Given the description of an element on the screen output the (x, y) to click on. 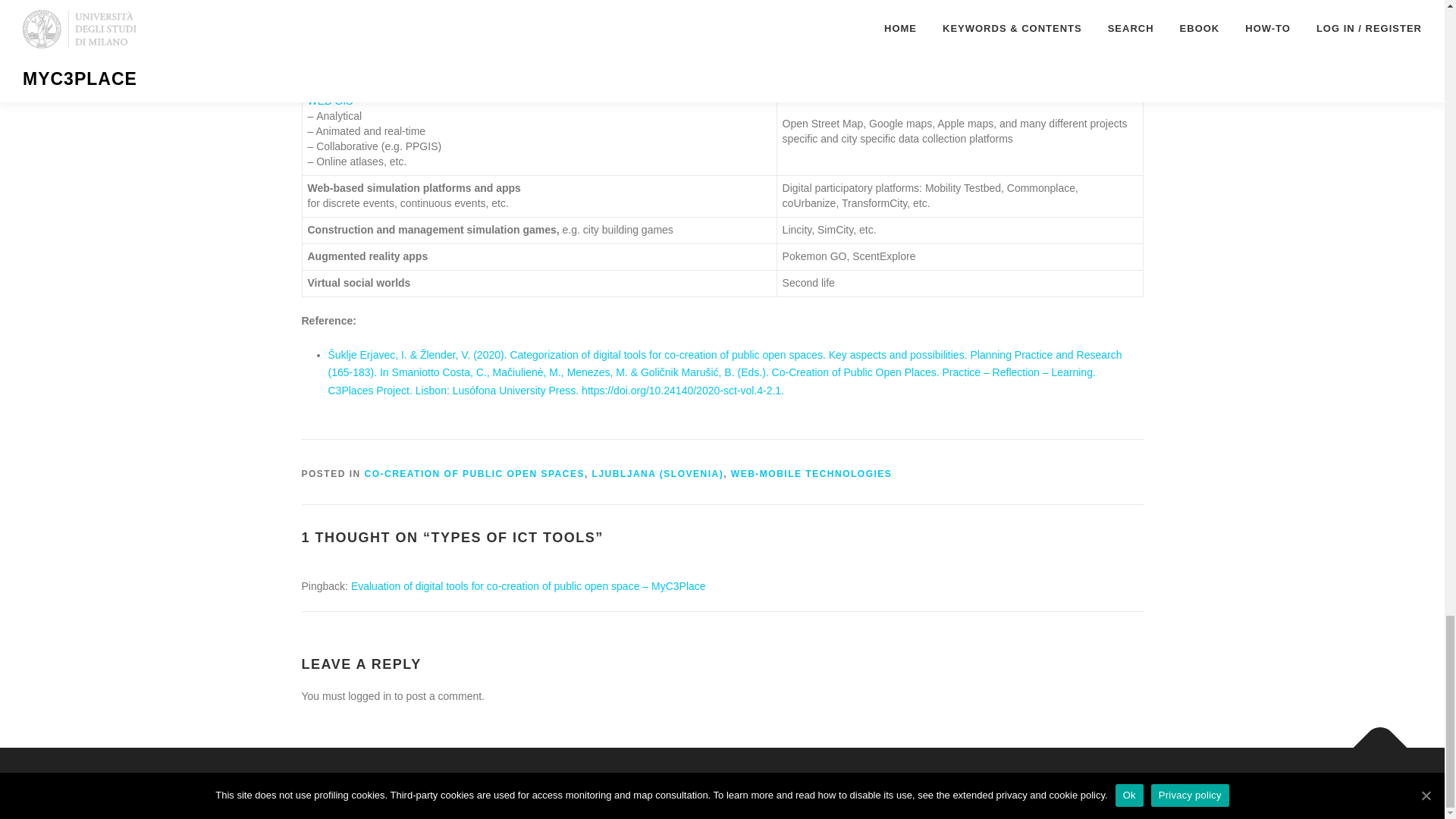
WEB-MOBILE TECHNOLOGIES (811, 473)
Back To Top (1372, 739)
WEB GIS (330, 101)
CO-CREATION OF PUBLIC OPEN SPACES (475, 473)
OnePress (740, 782)
